Given the description of an element on the screen output the (x, y) to click on. 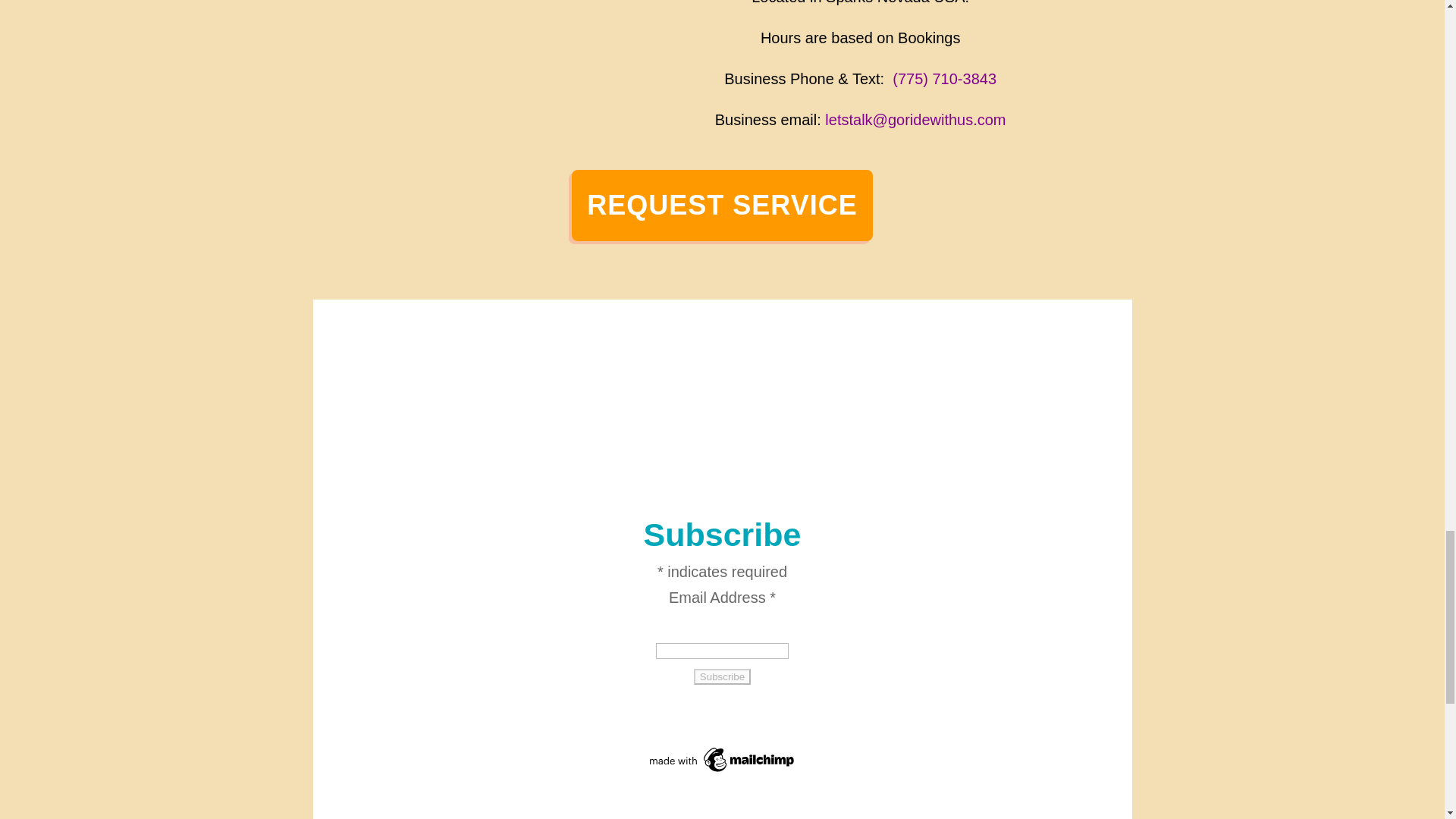
REQUEST SERVICE (722, 204)
Subscribe (722, 676)
Mailchimp - email marketing made easy and fun (722, 770)
Subscribe (722, 676)
